Given the description of an element on the screen output the (x, y) to click on. 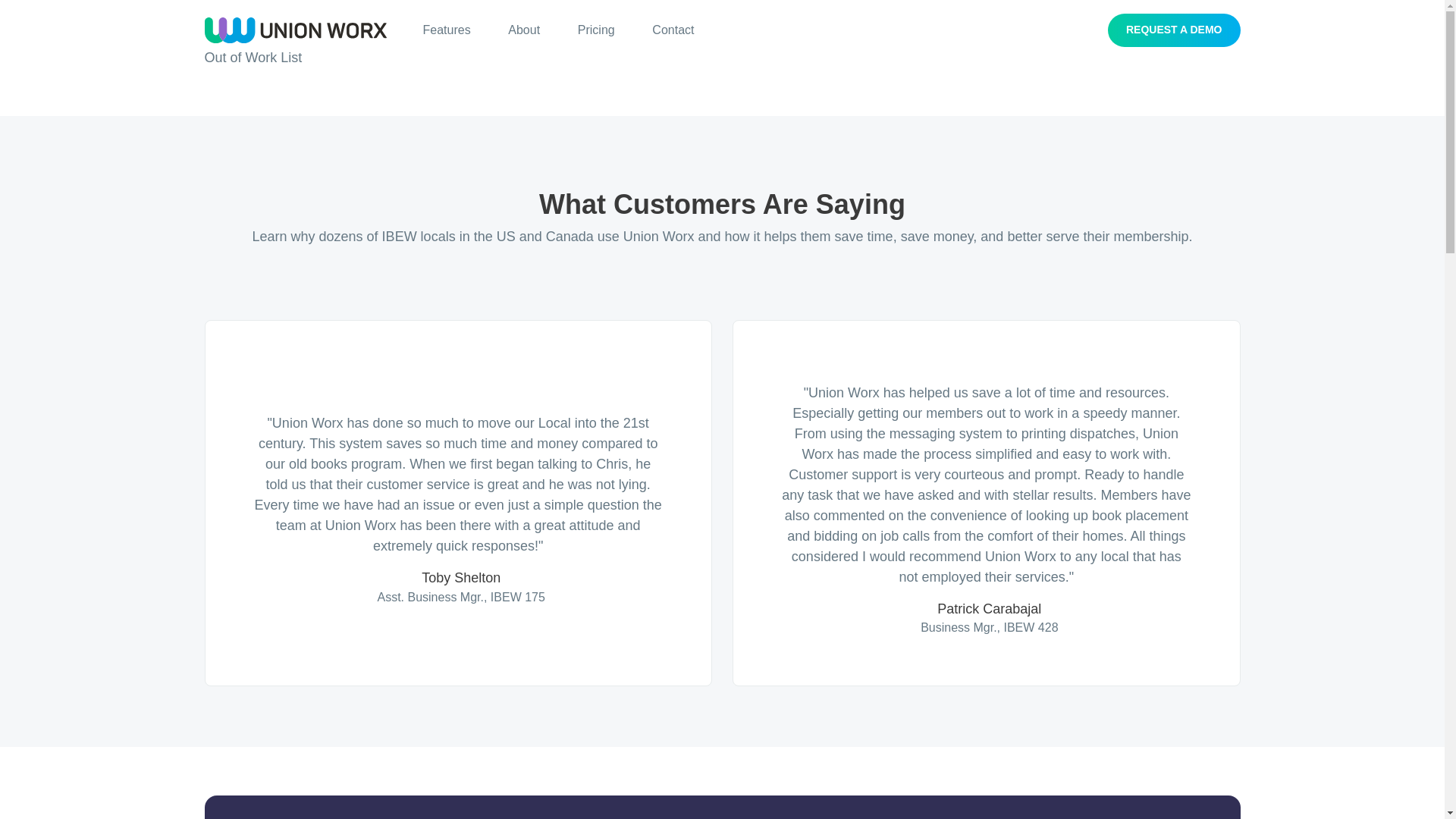
Contact (673, 30)
REQUEST A DEMO (1174, 29)
Pricing (596, 30)
About (523, 30)
